Given the description of an element on the screen output the (x, y) to click on. 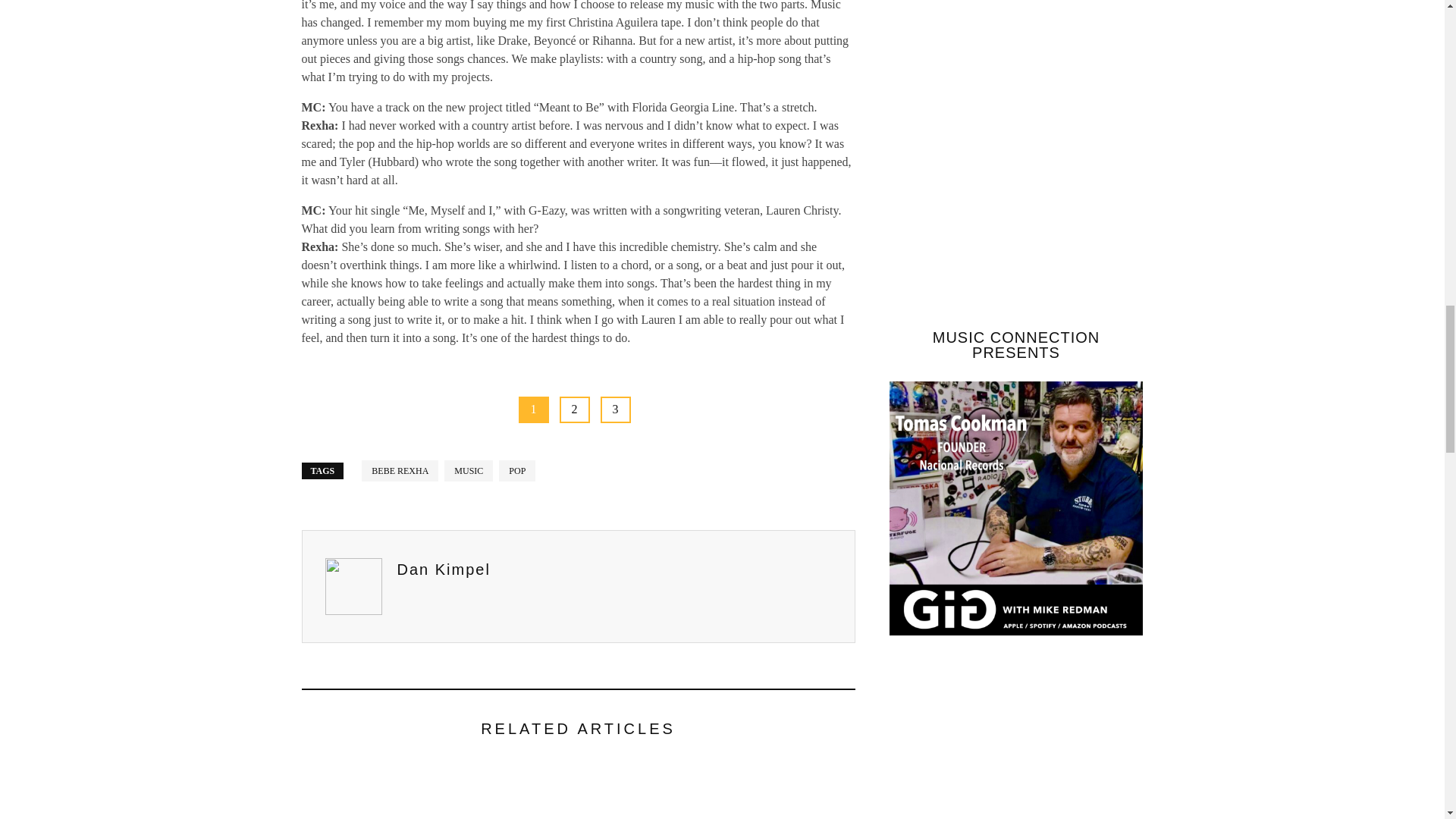
YouTube video player (1015, 33)
3rd party ad content (1002, 745)
View all posts tagged pop (517, 469)
View all posts tagged Bebe Rexha (399, 469)
View all posts tagged music (468, 469)
